Given the description of an element on the screen output the (x, y) to click on. 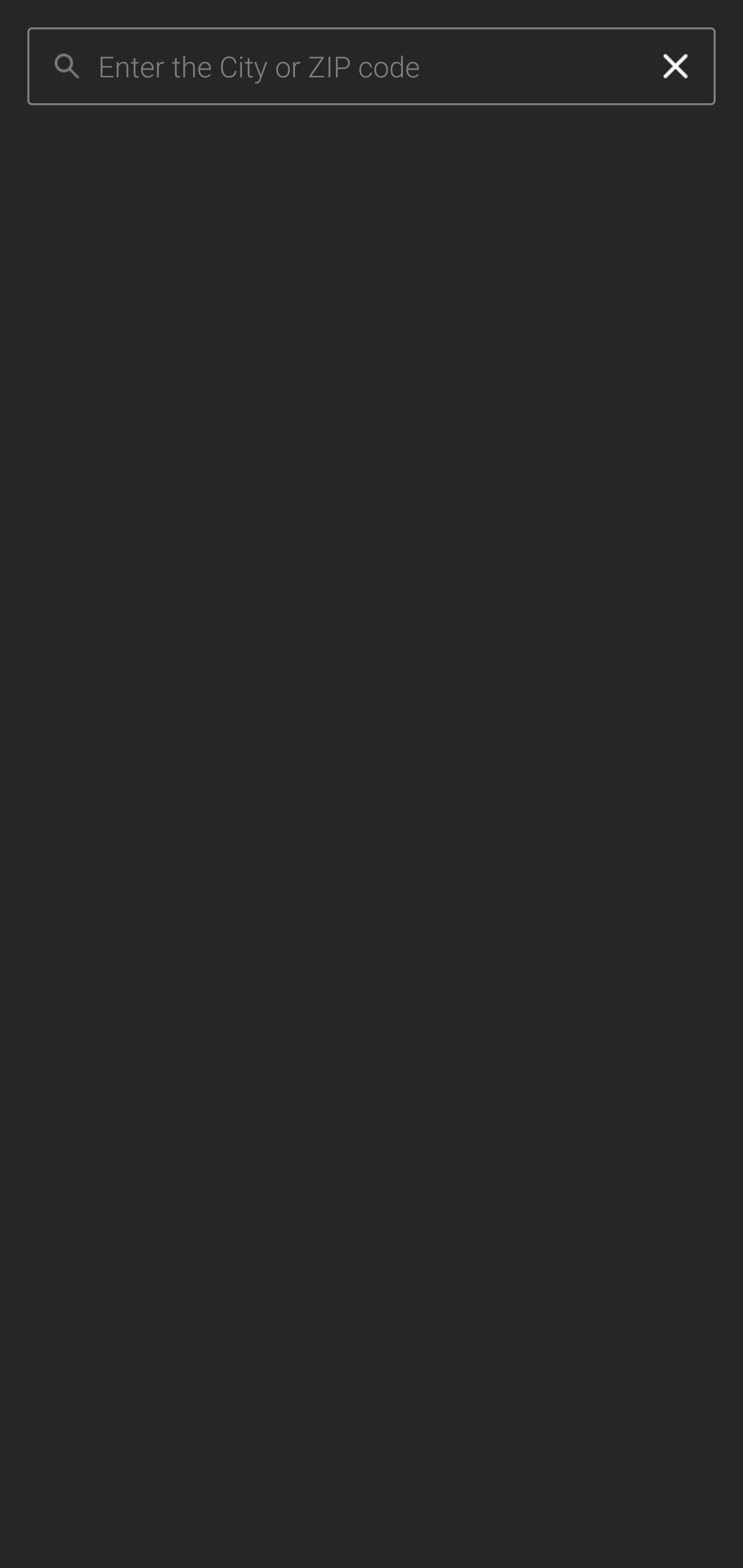
Enter the City or ZIP code (367, 66)
